Given the description of an element on the screen output the (x, y) to click on. 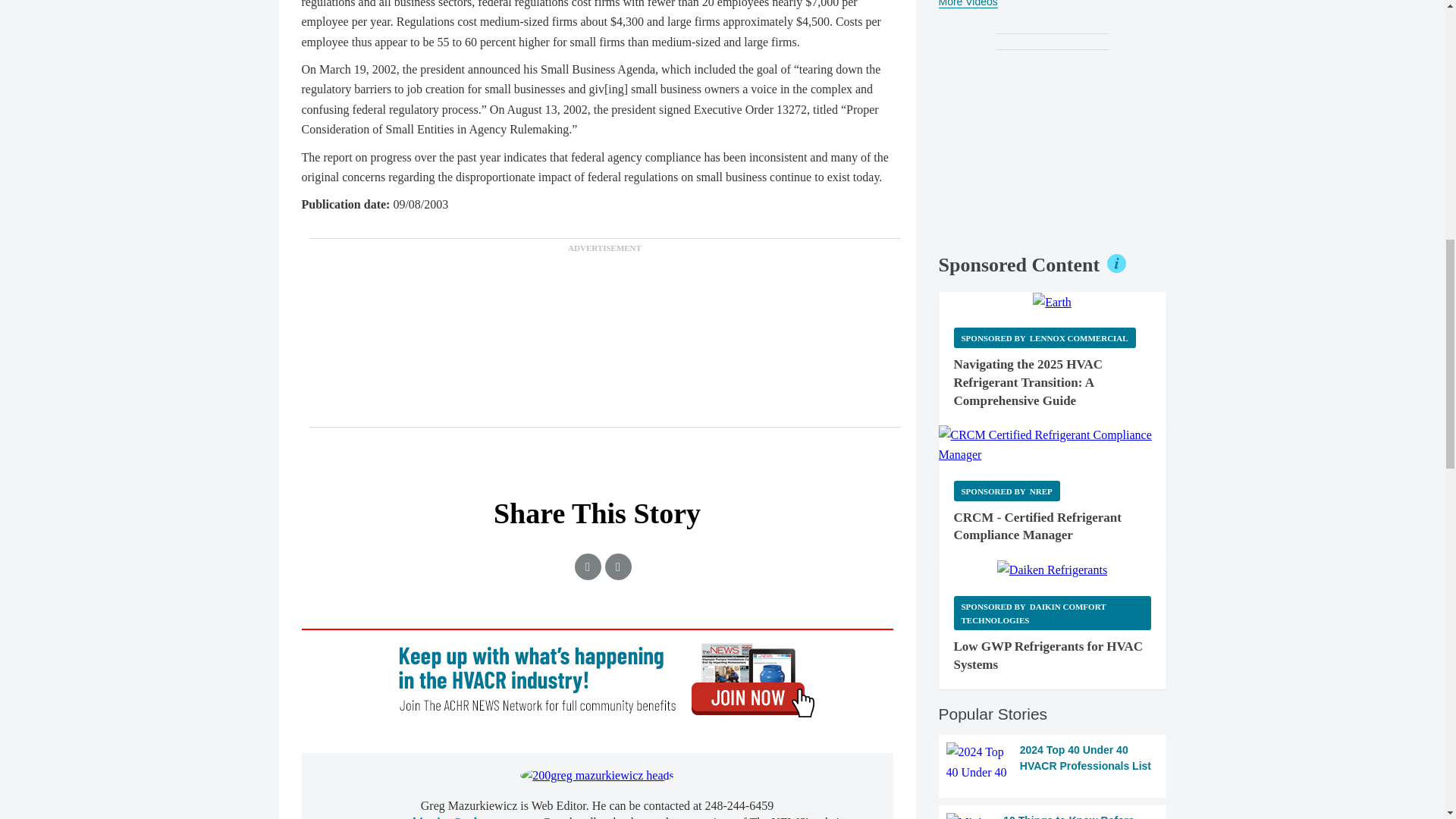
CRCM Certified Refrigerant Compliance Manager (1052, 445)
2024 Top 40 Under 40 HVACR Professionals List (1052, 762)
Sponsored by NREP (1006, 490)
Sponsored by Lennox Commercial (1044, 337)
Daiken Refrigerants (1051, 569)
10 Things to Know Before Your First Mini-Split Call (1052, 816)
Earth (1051, 302)
Sponsored by Daikin Comfort Technologies (1052, 612)
